Given the description of an element on the screen output the (x, y) to click on. 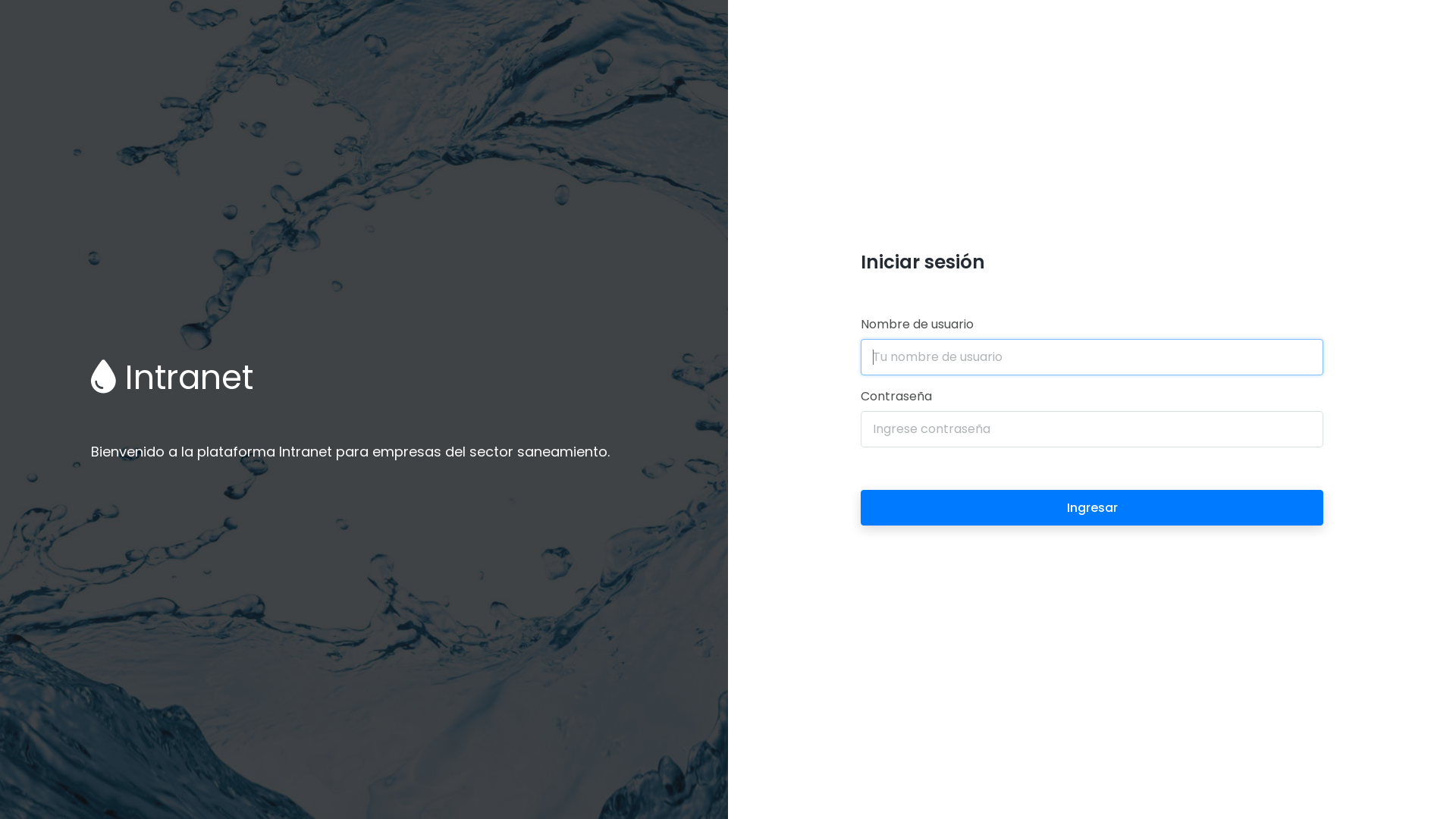
Ingresar Element type: text (1091, 507)
